Given the description of an element on the screen output the (x, y) to click on. 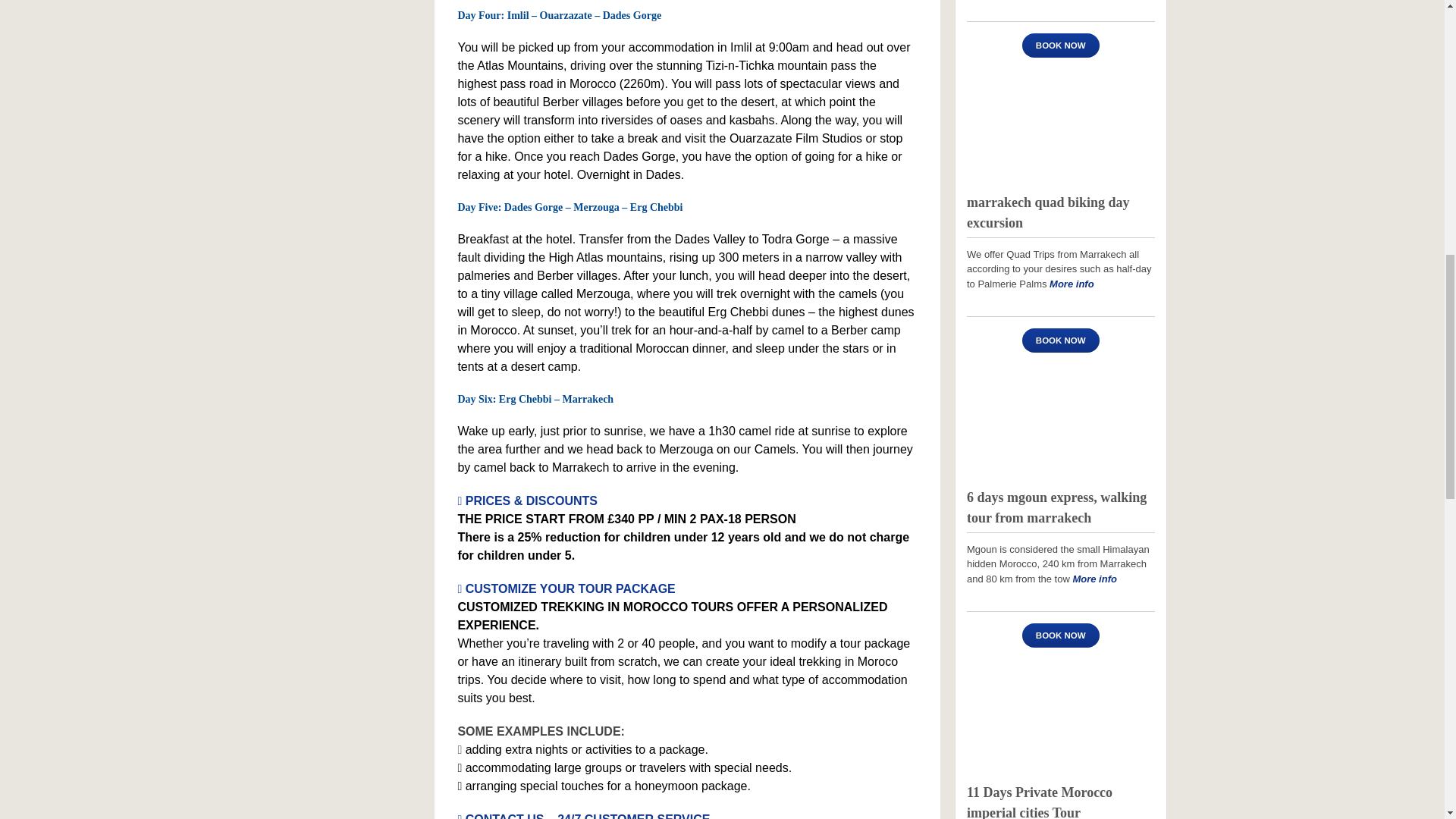
More info (1071, 283)
BOOK NOW (1060, 339)
More info (1093, 578)
BOOK NOW (1060, 635)
BOOK NOW (1060, 45)
